Given the description of an element on the screen output the (x, y) to click on. 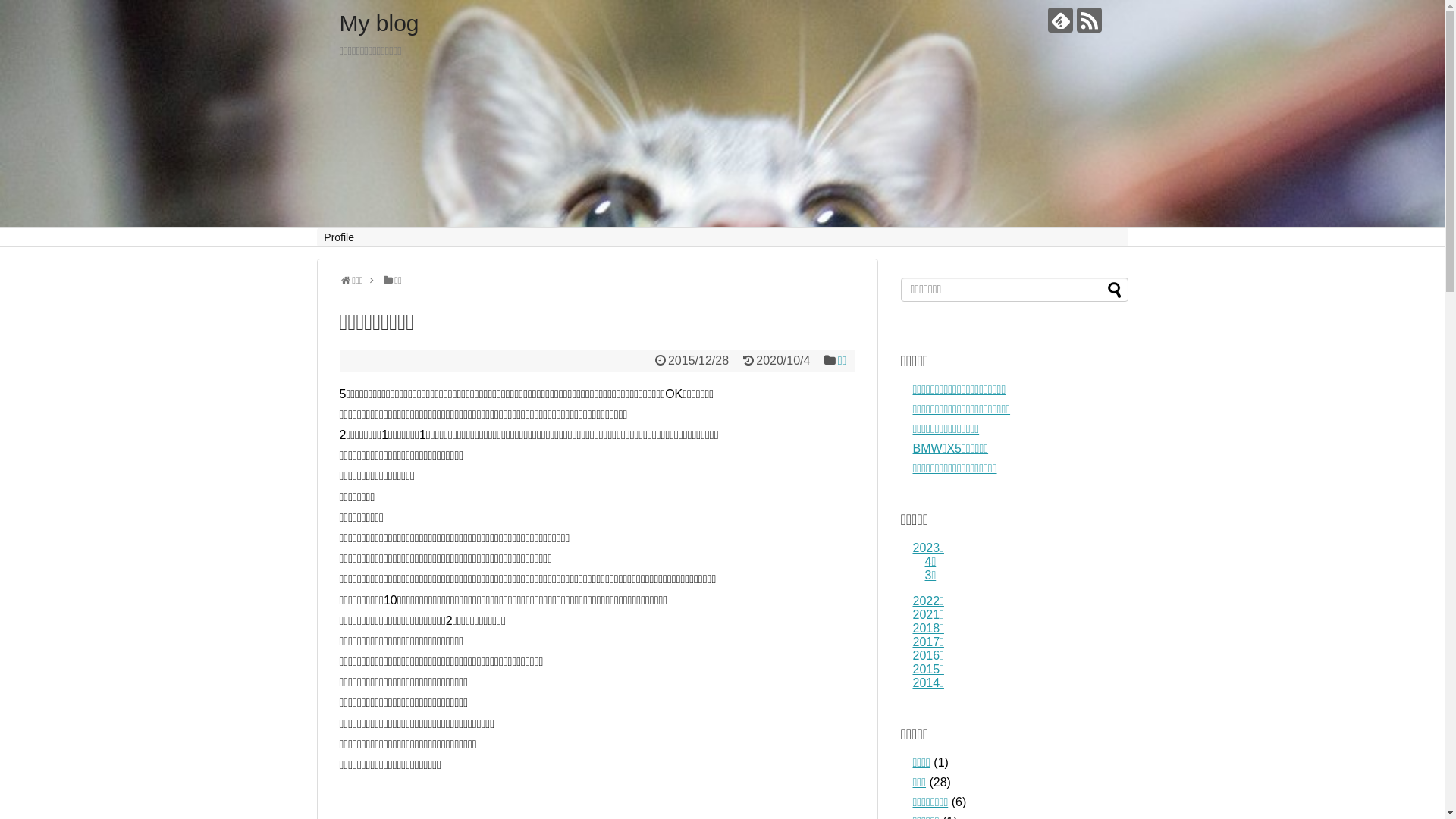
Profile Element type: text (338, 237)
My blog Element type: text (379, 22)
